Given the description of an element on the screen output the (x, y) to click on. 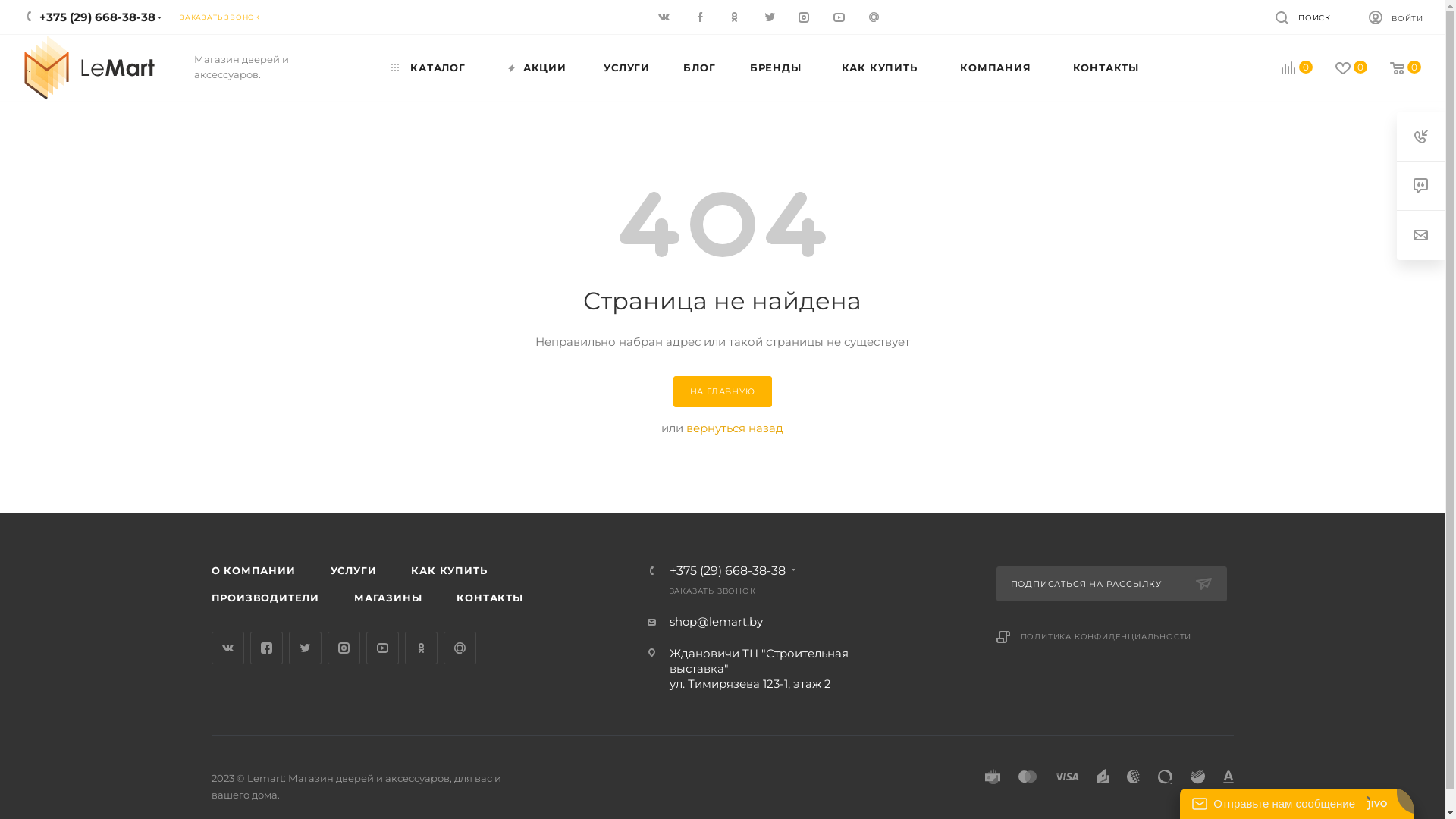
Twitter Element type: text (304, 647)
0 Element type: text (1286, 68)
Qiwi Element type: hover (1164, 776)
Yandex Element type: hover (1101, 775)
Cash Element type: hover (991, 776)
WebMoney Element type: hover (1132, 776)
Google Plus Element type: text (458, 647)
YouTube Element type: text (381, 647)
+375 (29) 668-38-38 Element type: text (726, 570)
Facebook Element type: text (266, 647)
0 Element type: text (1394, 68)
Instagram Element type: text (343, 647)
Sberbank Element type: hover (1197, 776)
Alfa Element type: hover (1227, 775)
0 Element type: text (1340, 68)
MasterCard Element type: hover (1026, 776)
Visa Element type: hover (1066, 776)
shop@lemart.by Element type: text (715, 621)
